Given the description of an element on the screen output the (x, y) to click on. 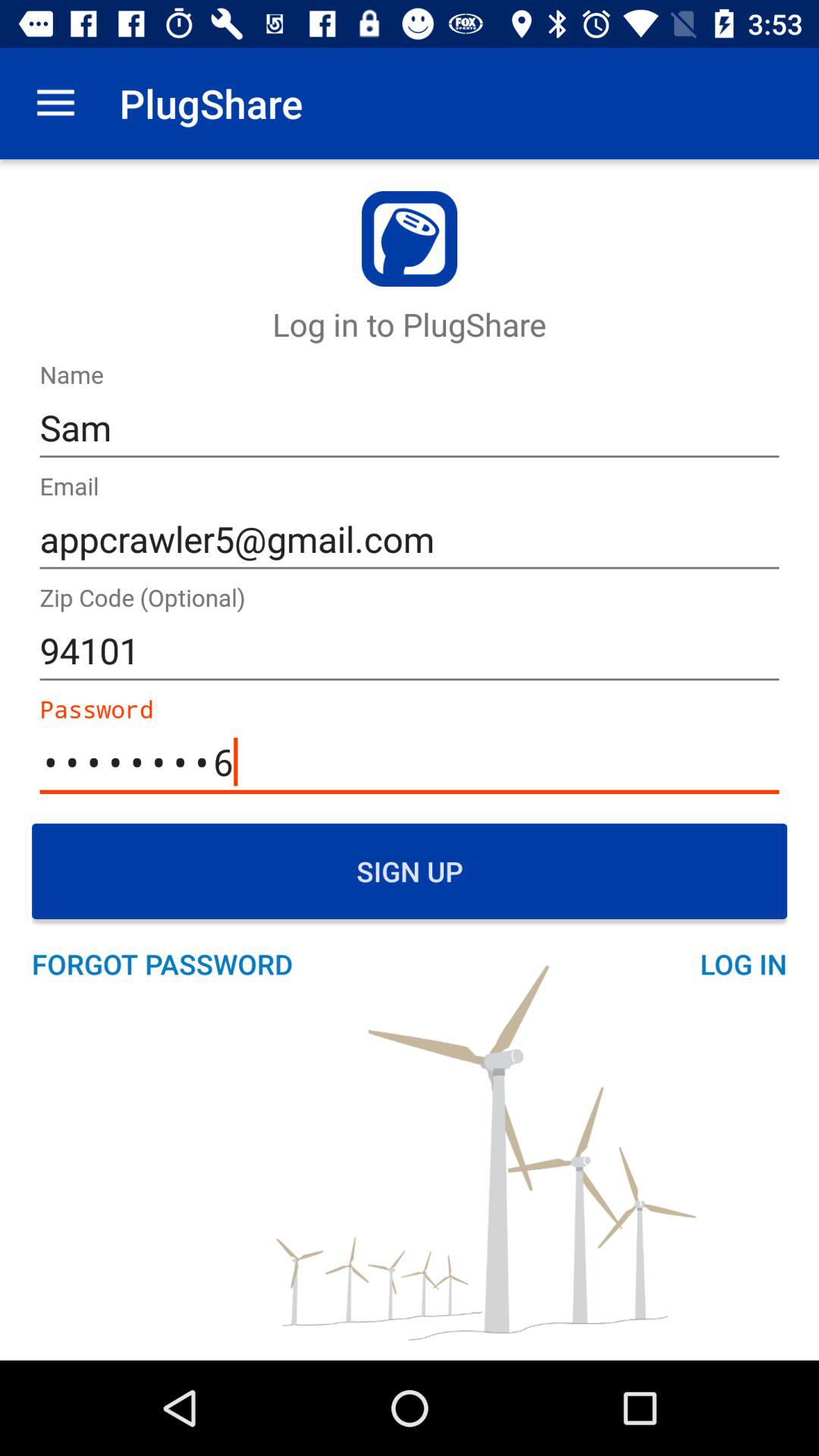
open item below sam icon (409, 539)
